Given the description of an element on the screen output the (x, y) to click on. 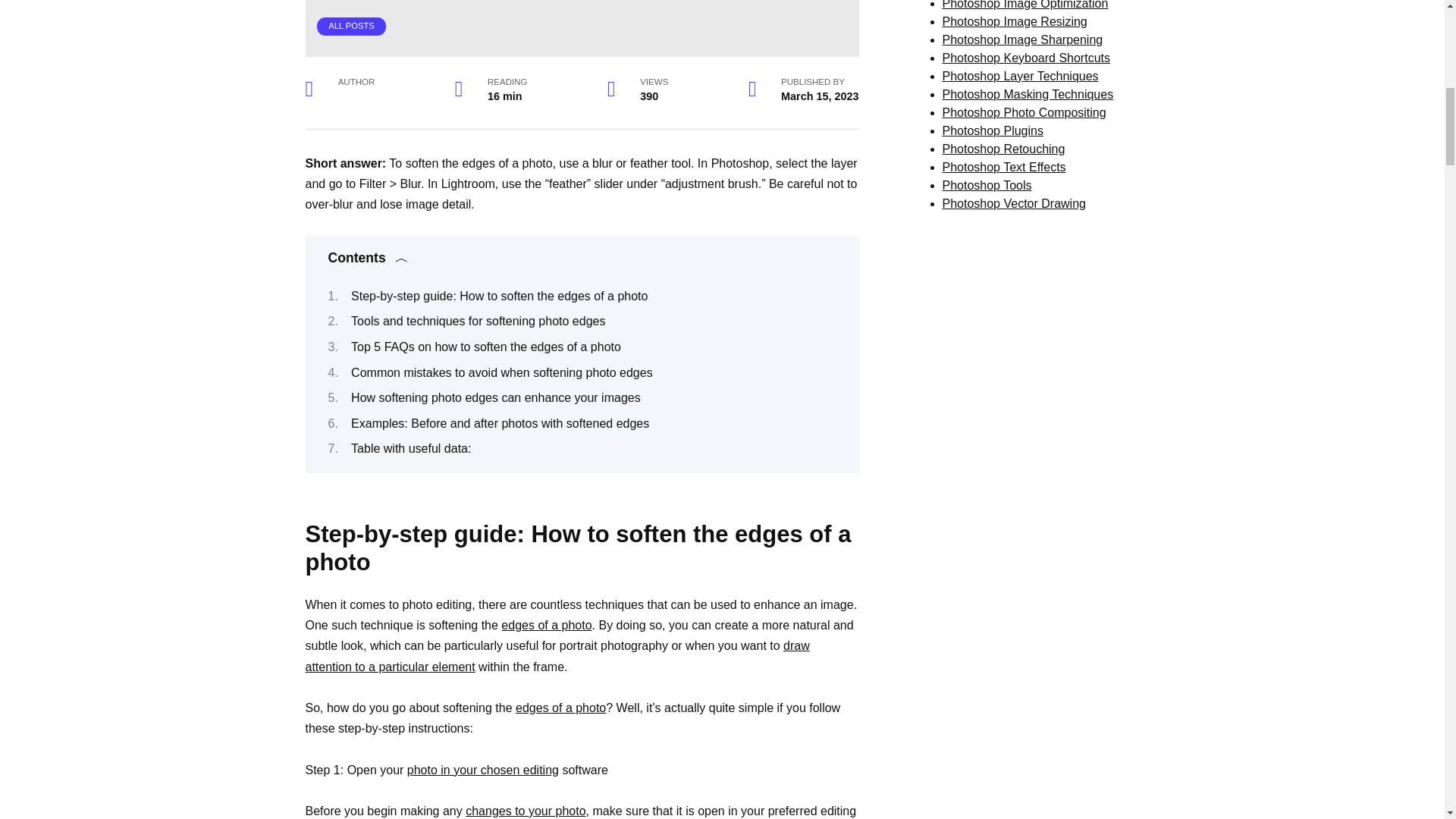
photo in your chosen editing (483, 769)
edges of a photo (545, 625)
How softening photo edges can enhance your images (495, 397)
Top 5 FAQs on how to soften the edges of a photo (485, 346)
Table with useful data: (410, 448)
Examples: Before and after photos with softened edges (499, 422)
changes to your photo (525, 810)
draw attention to a particular element (556, 655)
Tools and techniques for softening photo edges (477, 320)
edges of a photo (560, 707)
